Given the description of an element on the screen output the (x, y) to click on. 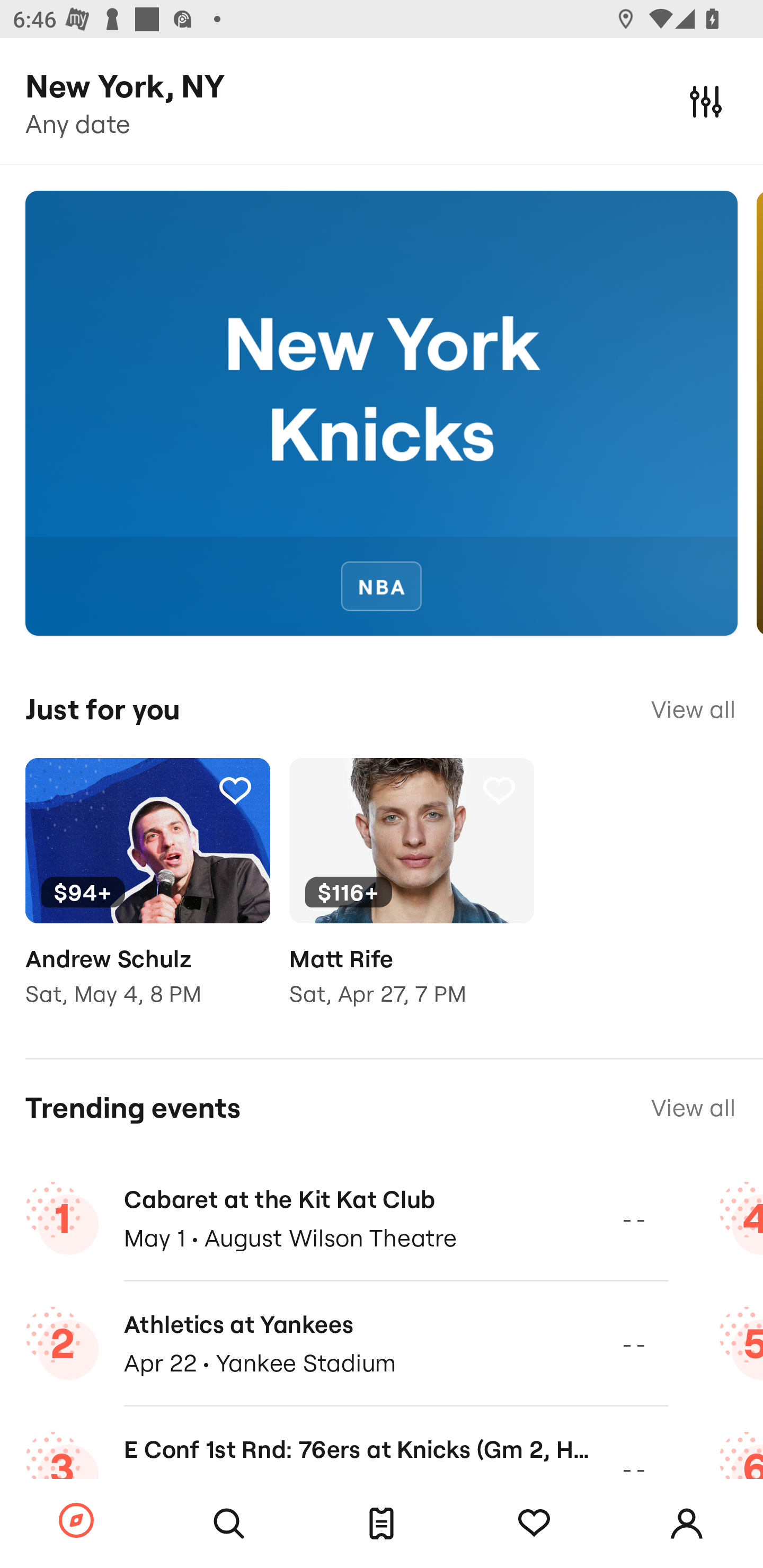
Filters (705, 100)
View all (693, 709)
Tracking $94+ Andrew Schulz Sat, May 4, 8 PM (147, 895)
Tracking $116+ Matt Rife Sat, Apr 27, 7 PM (411, 895)
Tracking (234, 790)
Tracking (498, 790)
View all (693, 1108)
Browse (76, 1521)
Search (228, 1523)
Tickets (381, 1523)
Tracking (533, 1523)
Account (686, 1523)
